Given the description of an element on the screen output the (x, y) to click on. 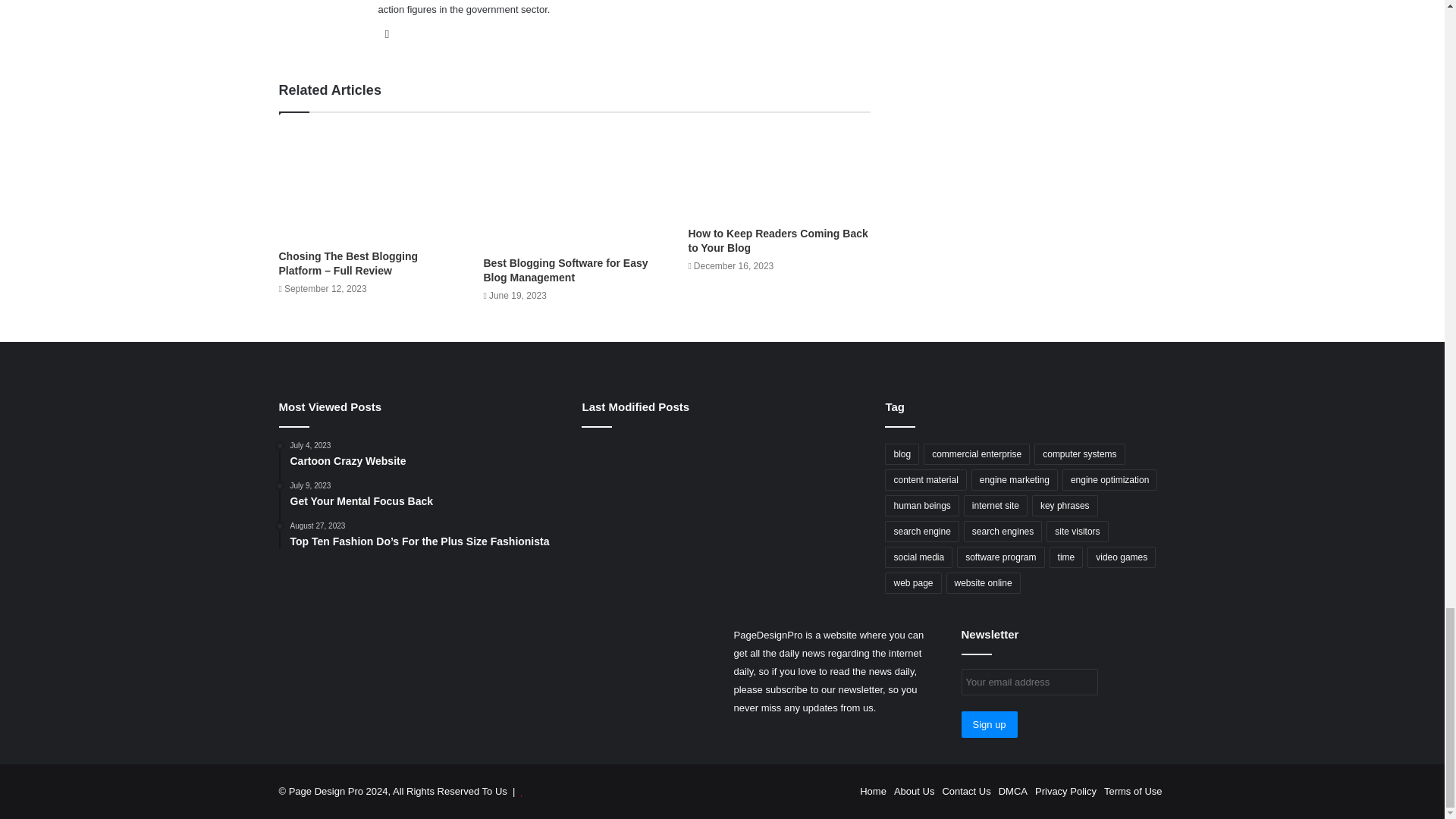
Sign up (988, 724)
